Given the description of an element on the screen output the (x, y) to click on. 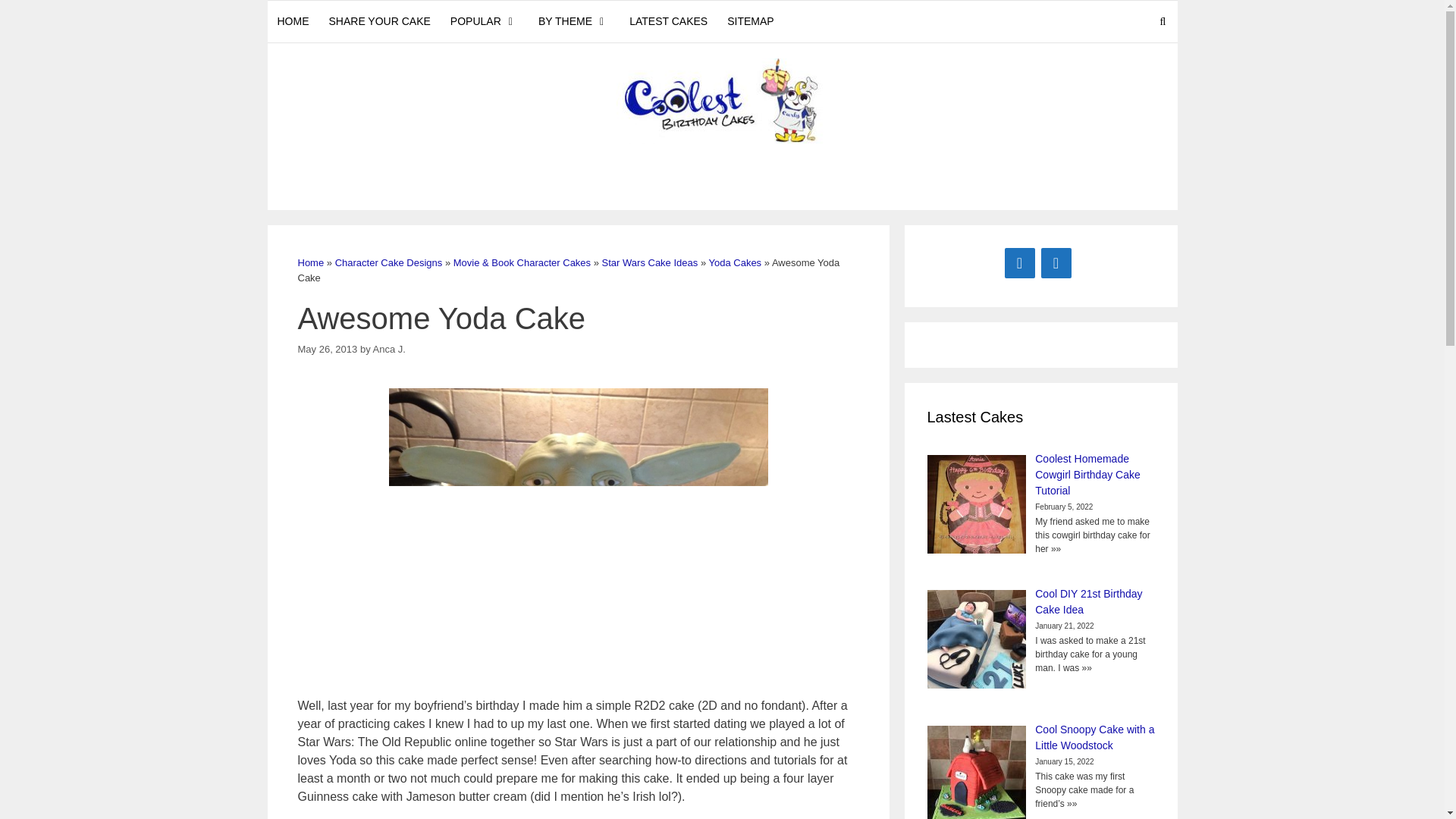
BY THEME (574, 21)
Instagram (1055, 263)
SHARE YOUR CAKE (378, 21)
POPULAR (484, 21)
Character Cake Designs (388, 262)
HOME (292, 21)
Home (310, 262)
Facebook (1018, 263)
LATEST CAKES (668, 21)
SITEMAP (750, 21)
View all posts by Anca J. (389, 348)
